Given the description of an element on the screen output the (x, y) to click on. 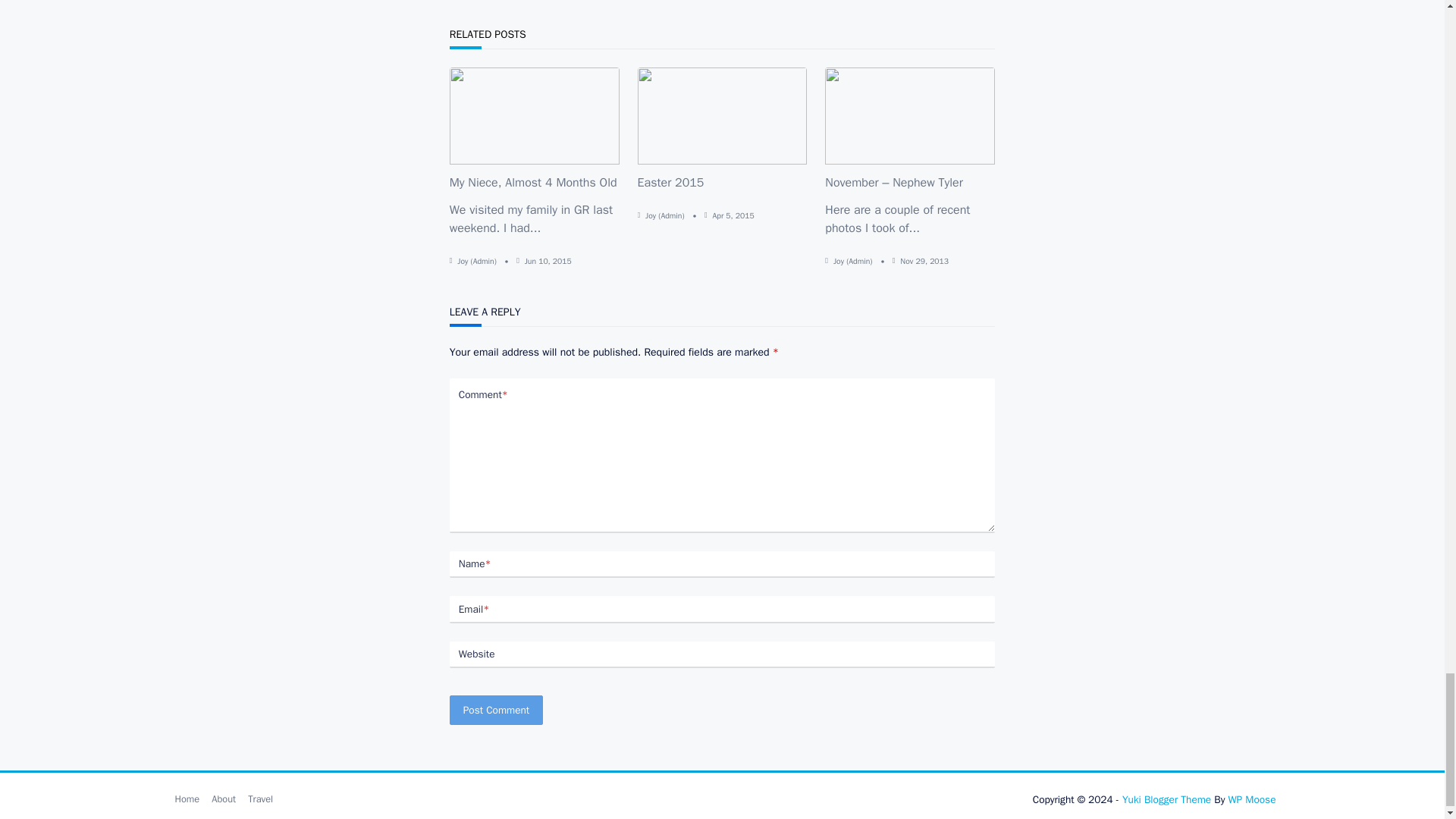
Easter 2015 (670, 182)
Apr 5, 2015 (733, 215)
Jun 10, 2015 (548, 261)
Post Comment (496, 709)
My Niece, Almost 4 Months Old (533, 182)
